Given the description of an element on the screen output the (x, y) to click on. 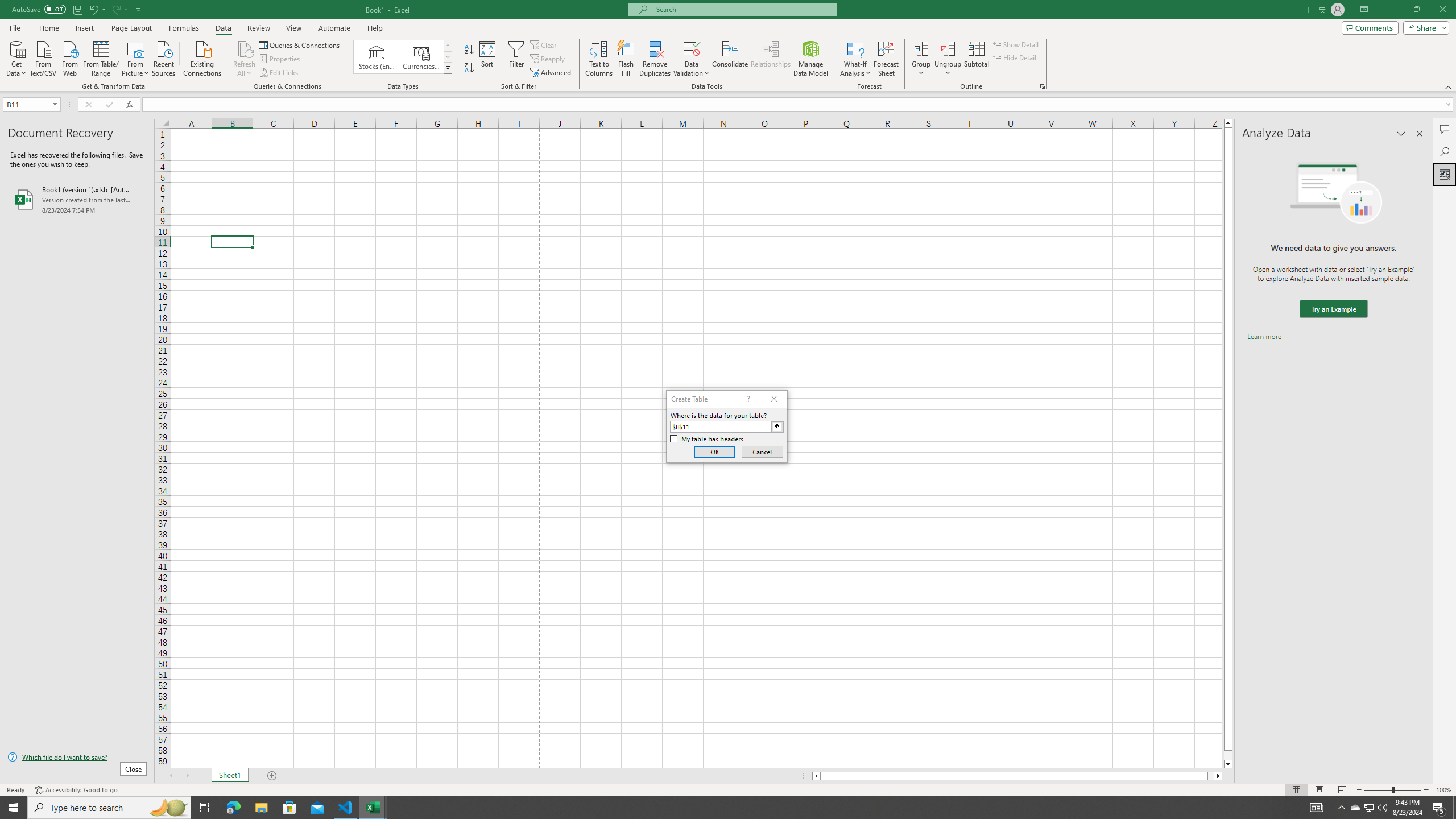
Text to Columns... (598, 58)
Subtotal (976, 58)
Row up (448, 45)
Properties (280, 58)
Filter (515, 58)
Clear (544, 44)
Remove Duplicates (654, 58)
Consolidate... (729, 58)
From Picture (135, 57)
Advanced... (551, 72)
